Given the description of an element on the screen output the (x, y) to click on. 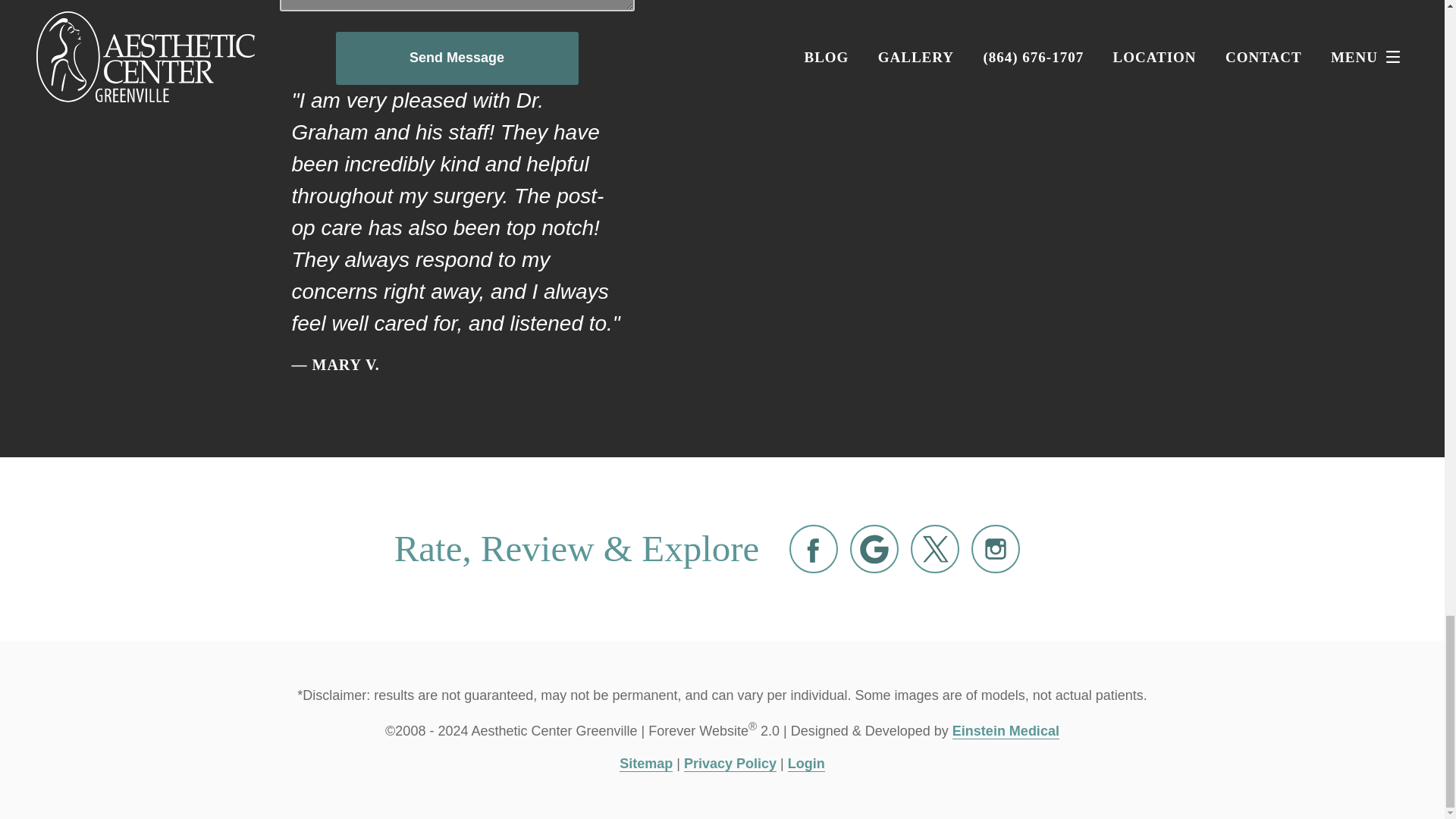
Einstein Medical (1005, 731)
Instagram (995, 548)
Sitemap (646, 763)
Send Message (456, 58)
Login (806, 763)
Privacy Policy (730, 763)
Facebook (813, 548)
Twitter (935, 548)
Google (874, 548)
